Given the description of an element on the screen output the (x, y) to click on. 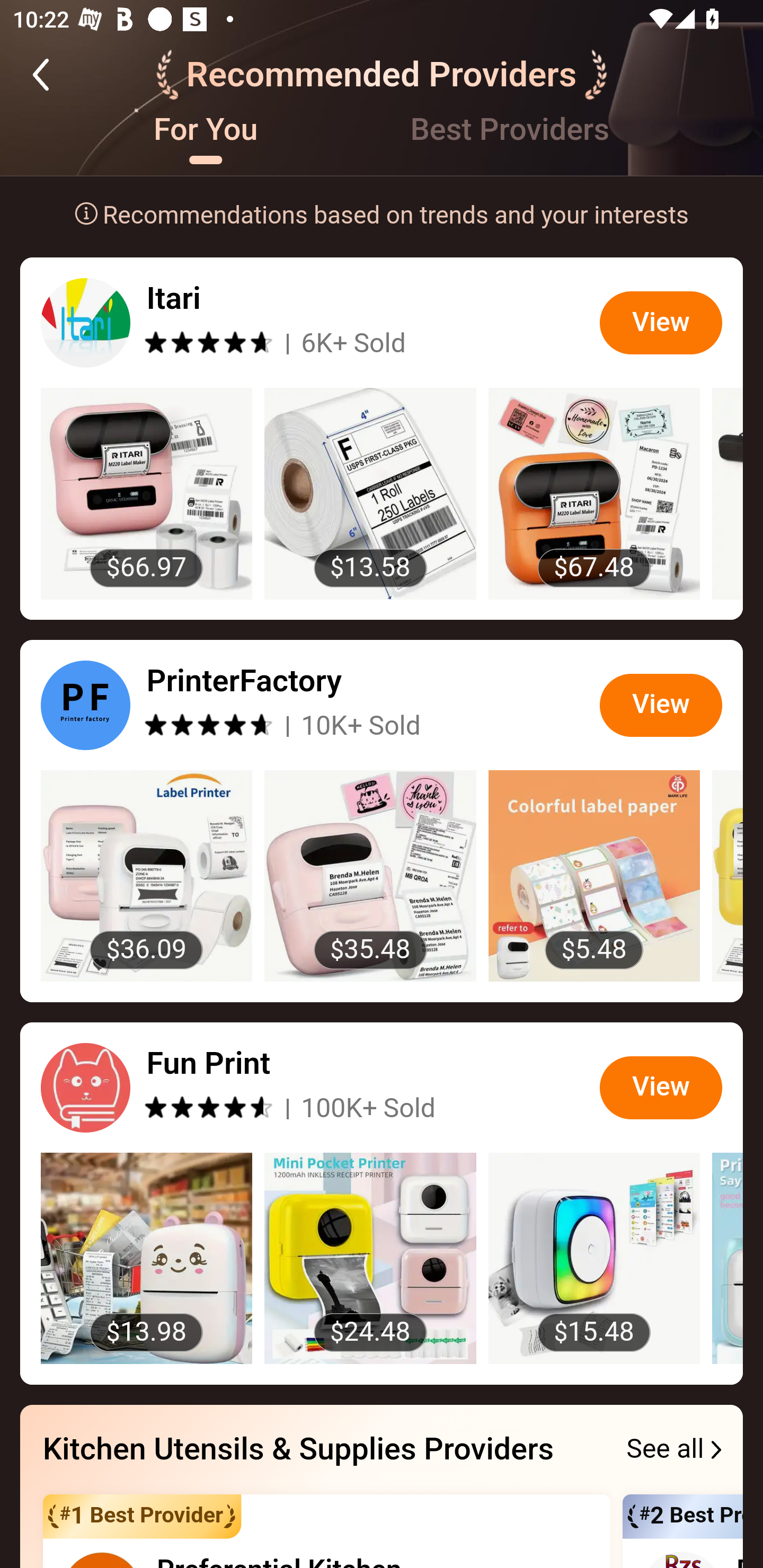
For You (205, 143)
Best Providers (510, 143)
View (660, 322)
$ 66.97 webp $66.97 (145, 493)
$ 13.58 webp $13.58 (369, 493)
$ 67.48 webp $67.48 (594, 493)
View (660, 704)
$ 36.09 webp $36.09 (145, 875)
$ 35.48 webp $35.48 (369, 875)
$ 5.48 webp $5.48 (594, 875)
View (660, 1088)
$ 13.98 webp $13.98 (145, 1258)
$ 24.48 webp $24.48 (369, 1258)
$ 15.48 webp $15.48 (594, 1258)
Kitchen Utensils & Supplies Providers See all (381, 1449)
